Given the description of an element on the screen output the (x, y) to click on. 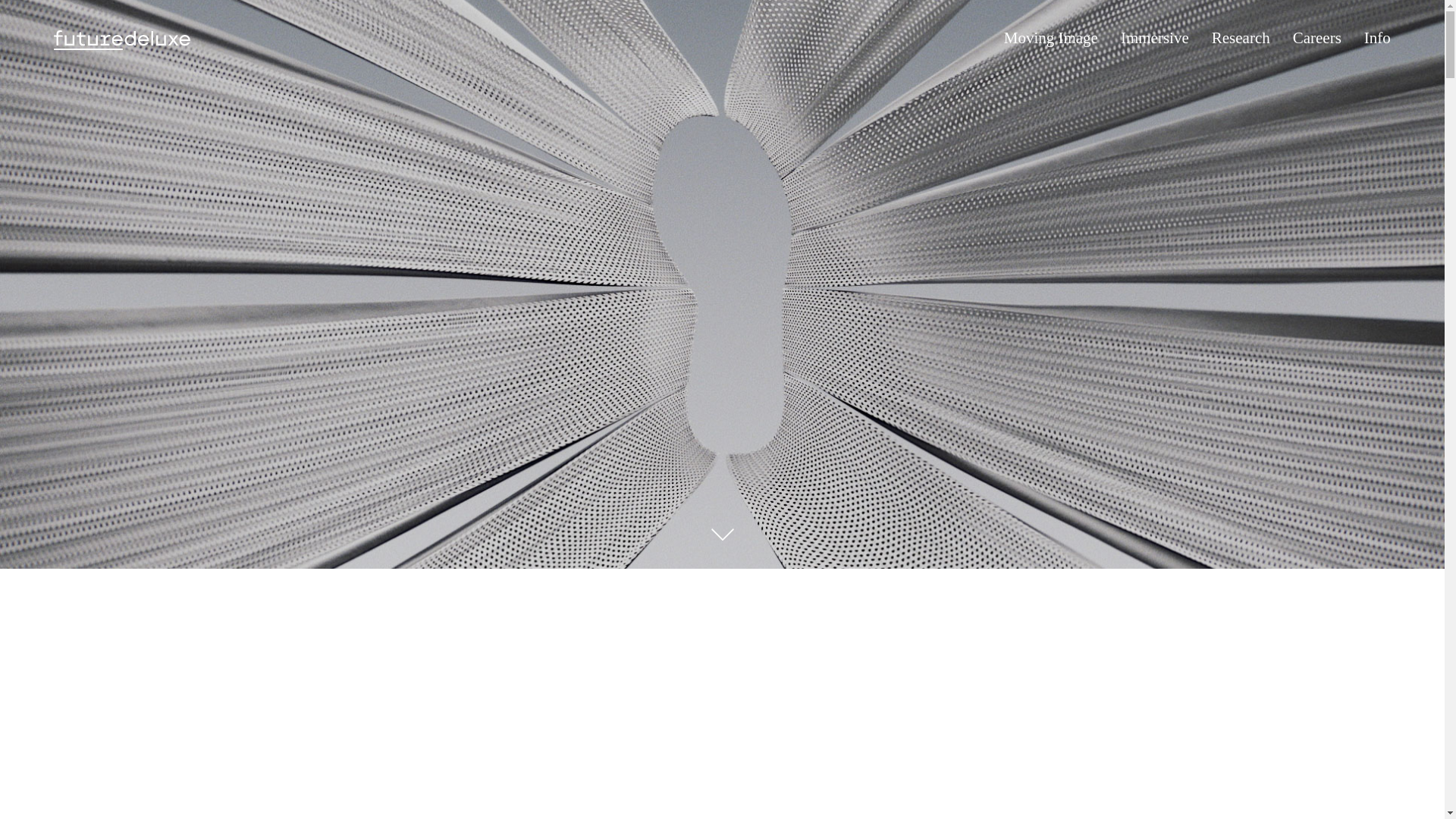
Research (1240, 38)
Info (1377, 38)
Careers (1316, 38)
Moving Image (1050, 38)
Immersive (1155, 38)
